Given the description of an element on the screen output the (x, y) to click on. 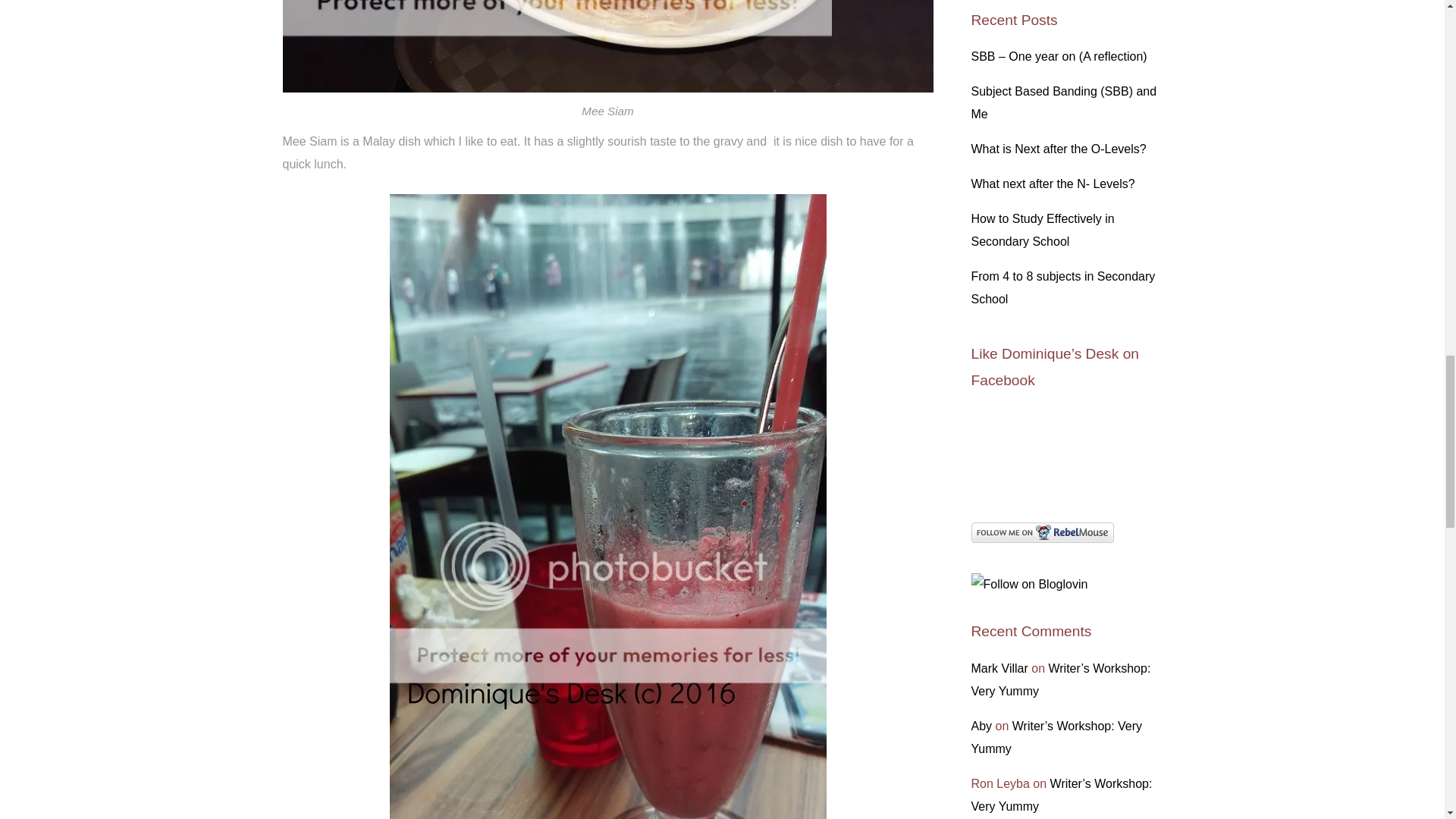
Aby (981, 725)
What next after the N- Levels? (1052, 183)
Follow Dominique's Desk on Bloglovin (1029, 584)
Mark Villar (999, 667)
How to Study Effectively in Secondary School (1042, 230)
What is Next after the O-Levels? (1058, 148)
From 4 to 8 subjects in Secondary School (1062, 287)
